Given the description of an element on the screen output the (x, y) to click on. 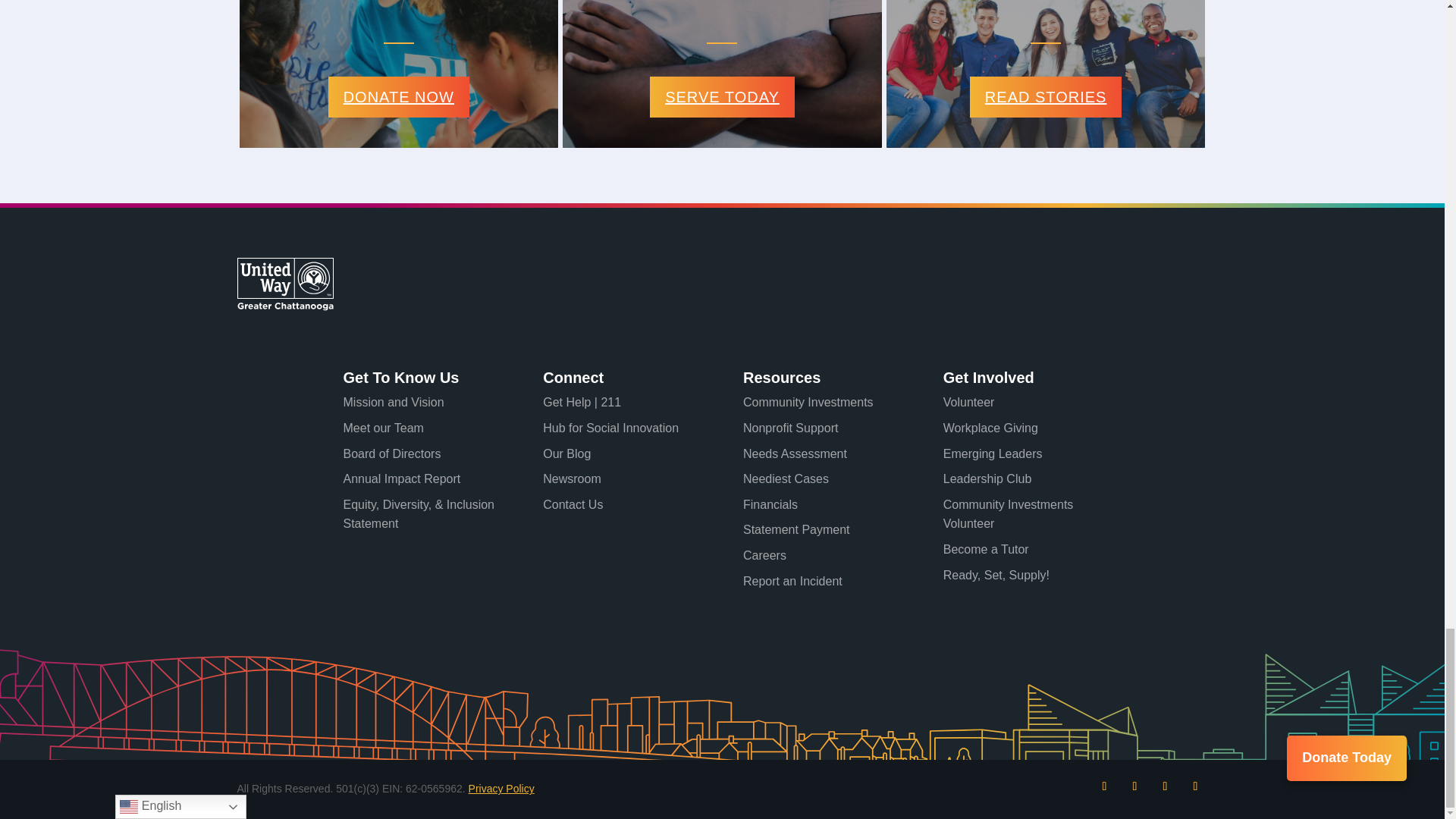
footer-logo (284, 284)
Follow on Facebook (1104, 785)
Follow on LinkedIn (1164, 785)
Follow on Instagram (1134, 785)
Follow on Youtube (1194, 785)
